Given the description of an element on the screen output the (x, y) to click on. 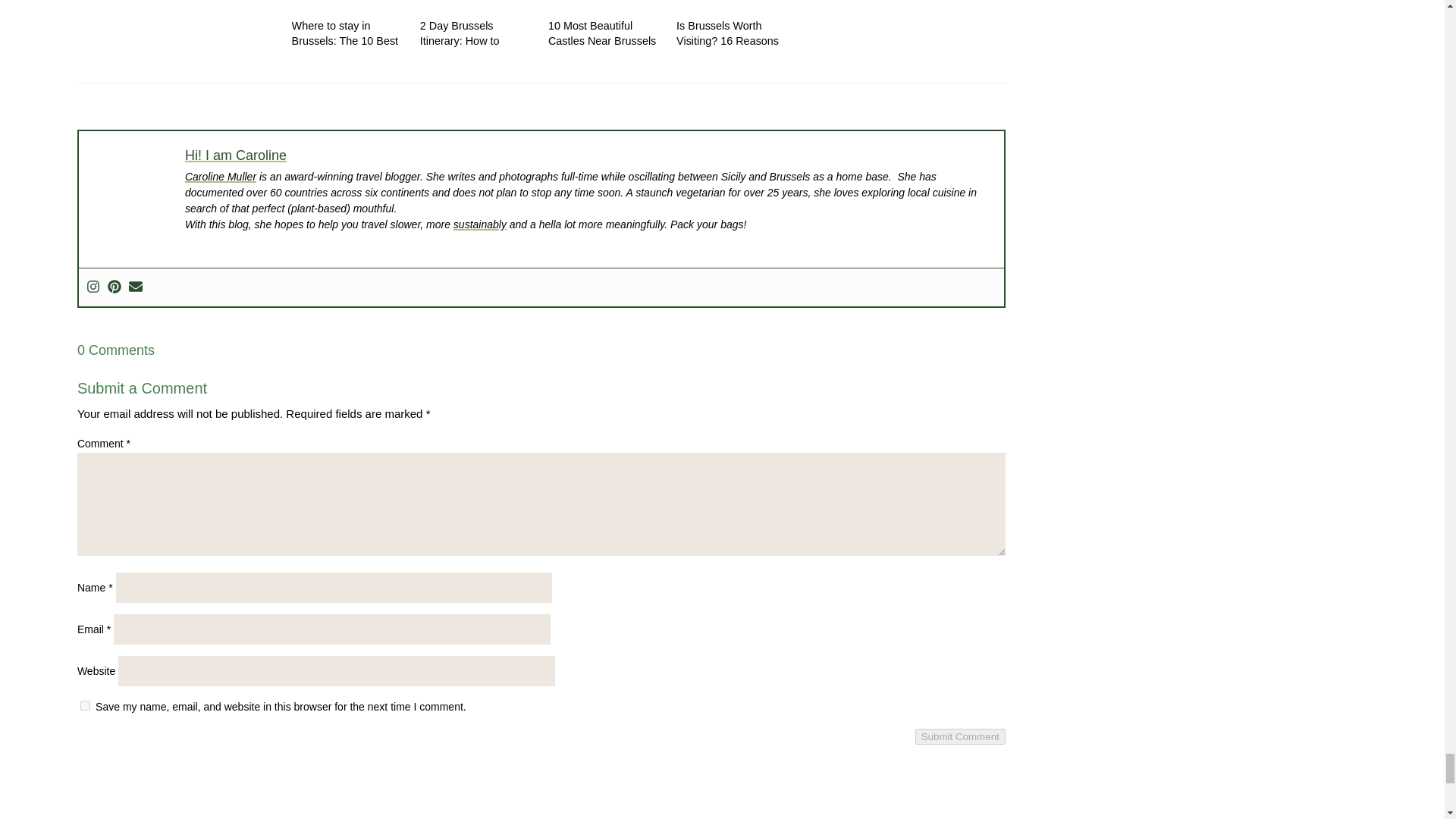
yes (85, 705)
